Given the description of an element on the screen output the (x, y) to click on. 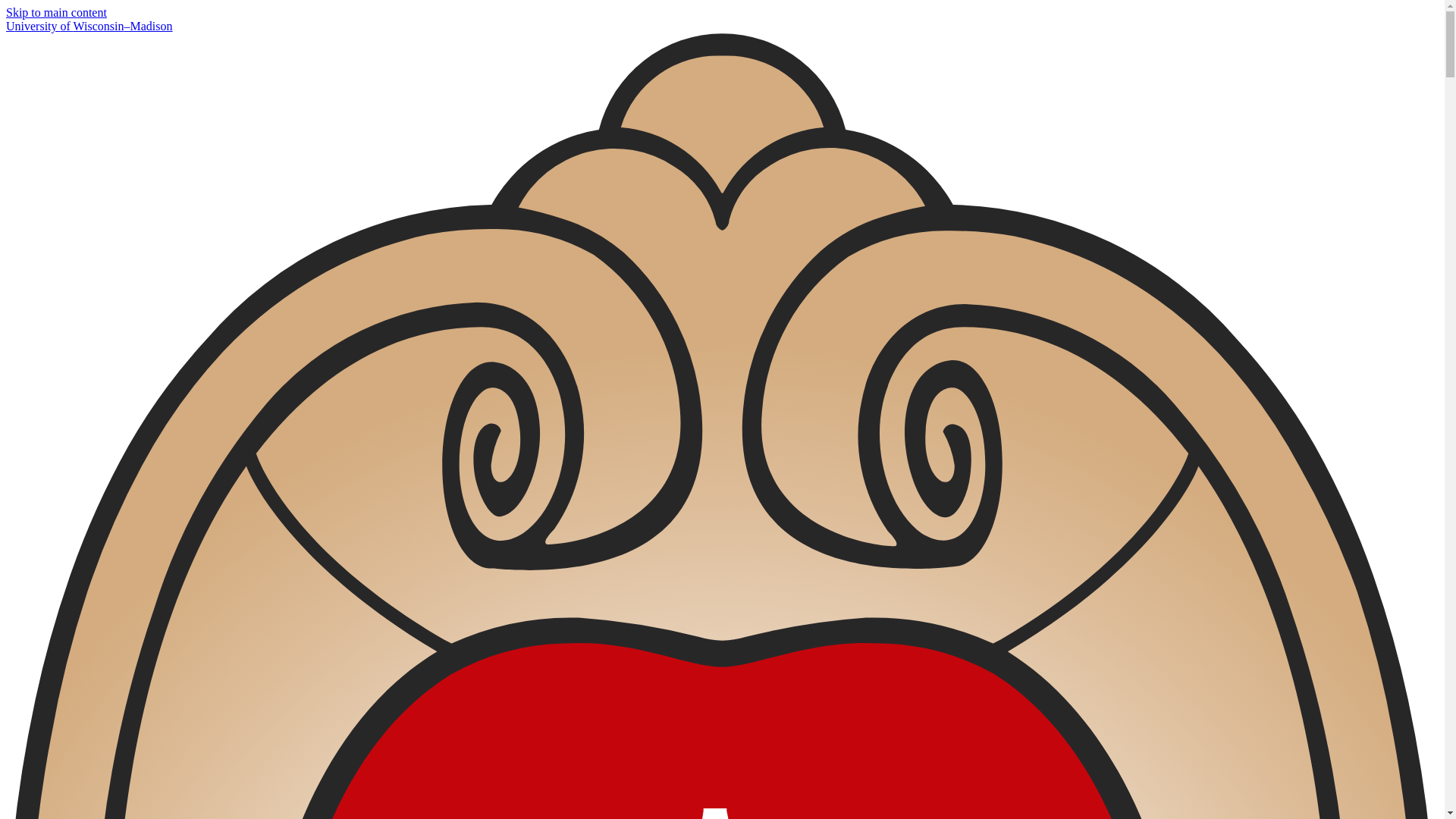
Skip to main content (55, 11)
